Given the description of an element on the screen output the (x, y) to click on. 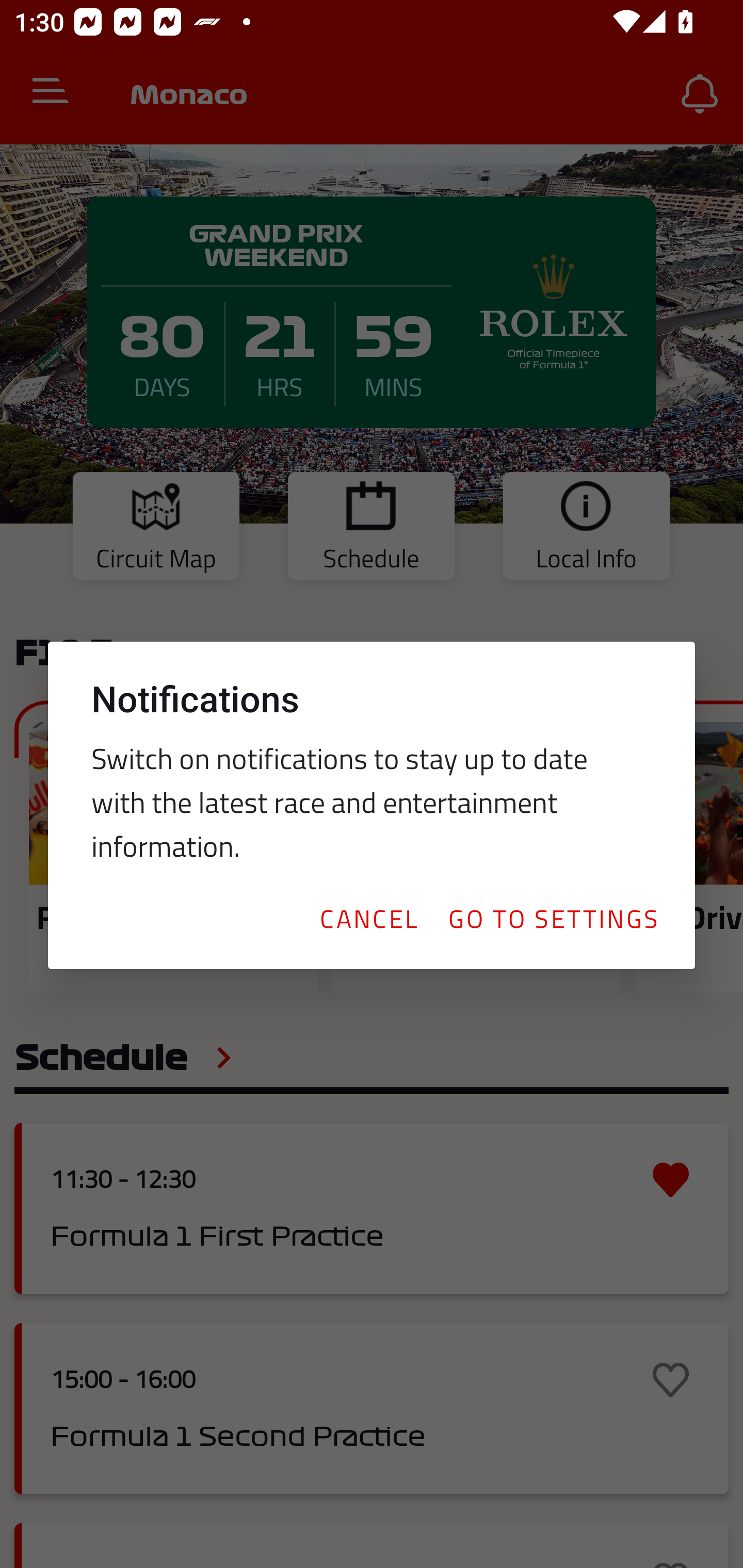
CANCEL (367, 917)
GO TO SETTINGS (552, 917)
